Given the description of an element on the screen output the (x, y) to click on. 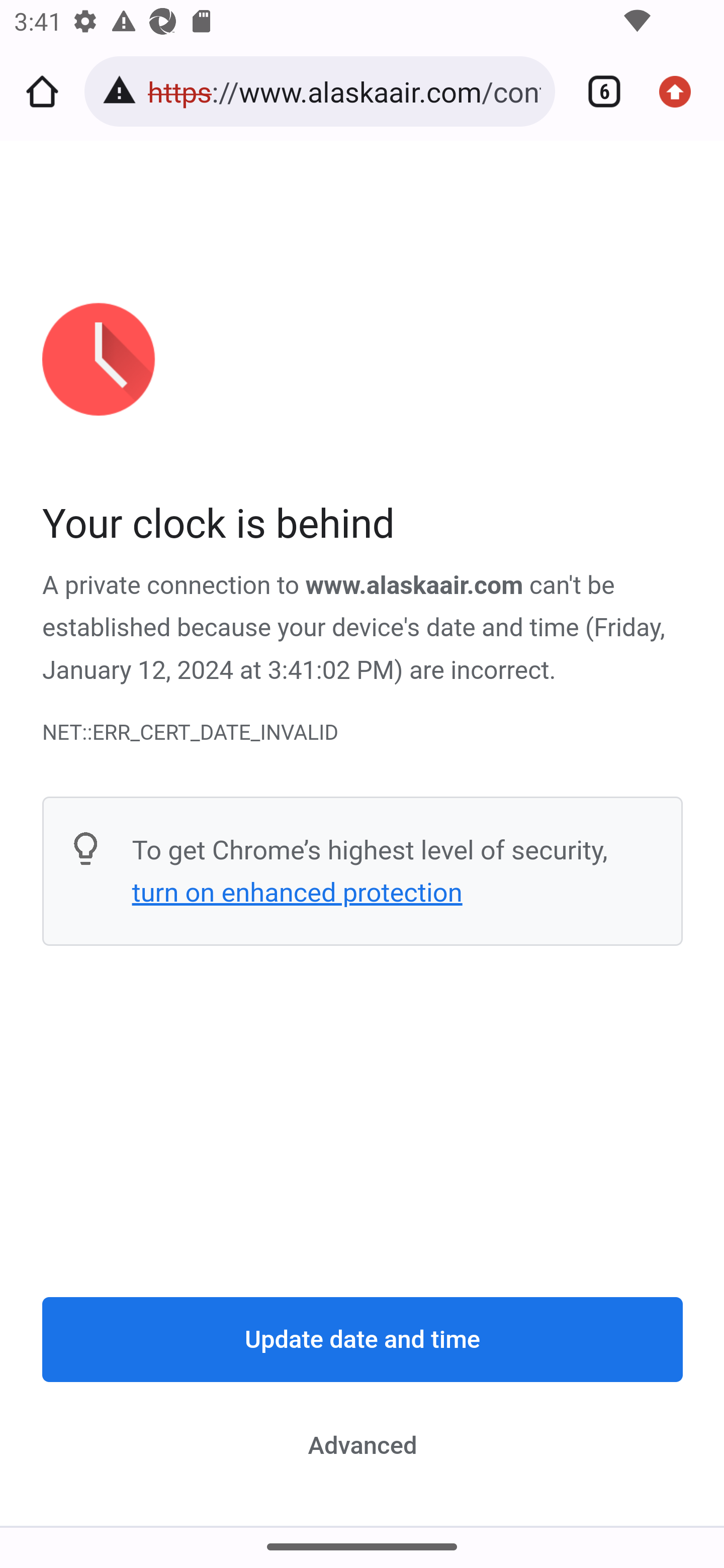
Home (42, 91)
This page is dangerous (122, 91)
Switch or close tabs (597, 91)
Update available. More options (681, 91)
NET::ERR_CERT_DATE_INVALID (362, 732)
turn on enhanced protection (296, 892)
Update date and time (362, 1339)
Advanced (362, 1445)
